Given the description of an element on the screen output the (x, y) to click on. 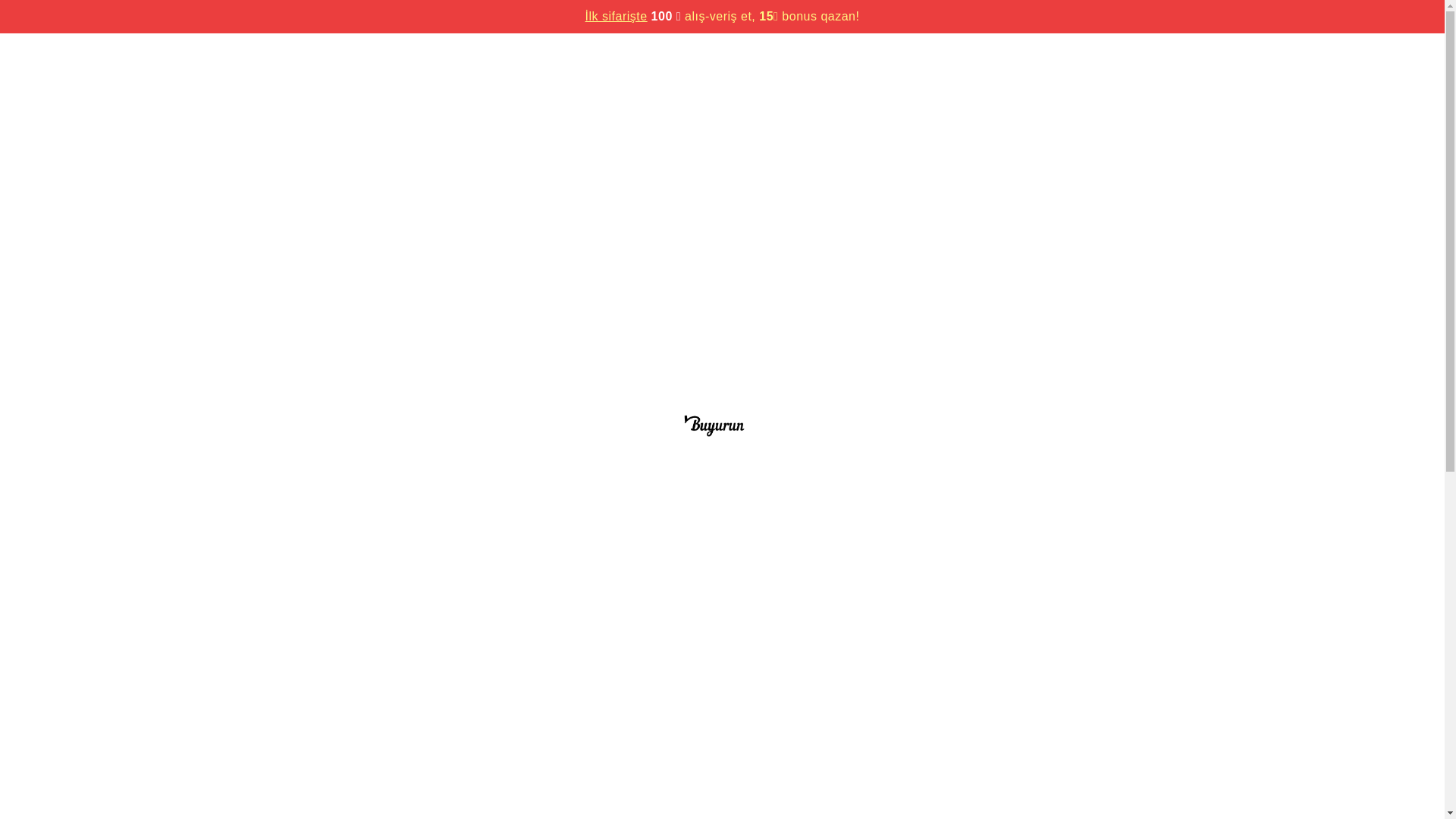
Super Maqazin Element type: text (947, 49)
0 Element type: text (1167, 104)
AZ Element type: text (1155, 48)
YURDUM XAMA KQ Element type: text (748, 684)
Bloq Element type: text (1019, 49)
